Given the description of an element on the screen output the (x, y) to click on. 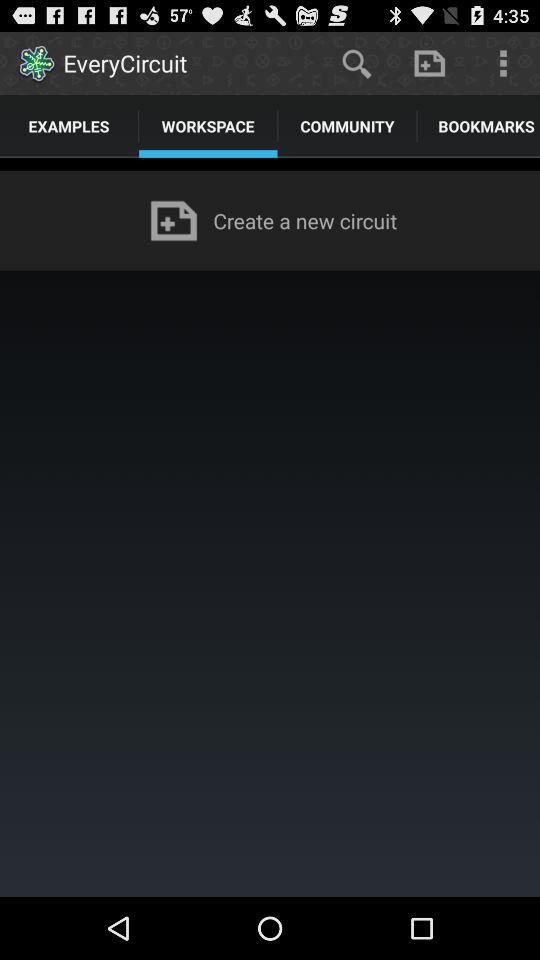
swipe until the create a new app (309, 220)
